Given the description of an element on the screen output the (x, y) to click on. 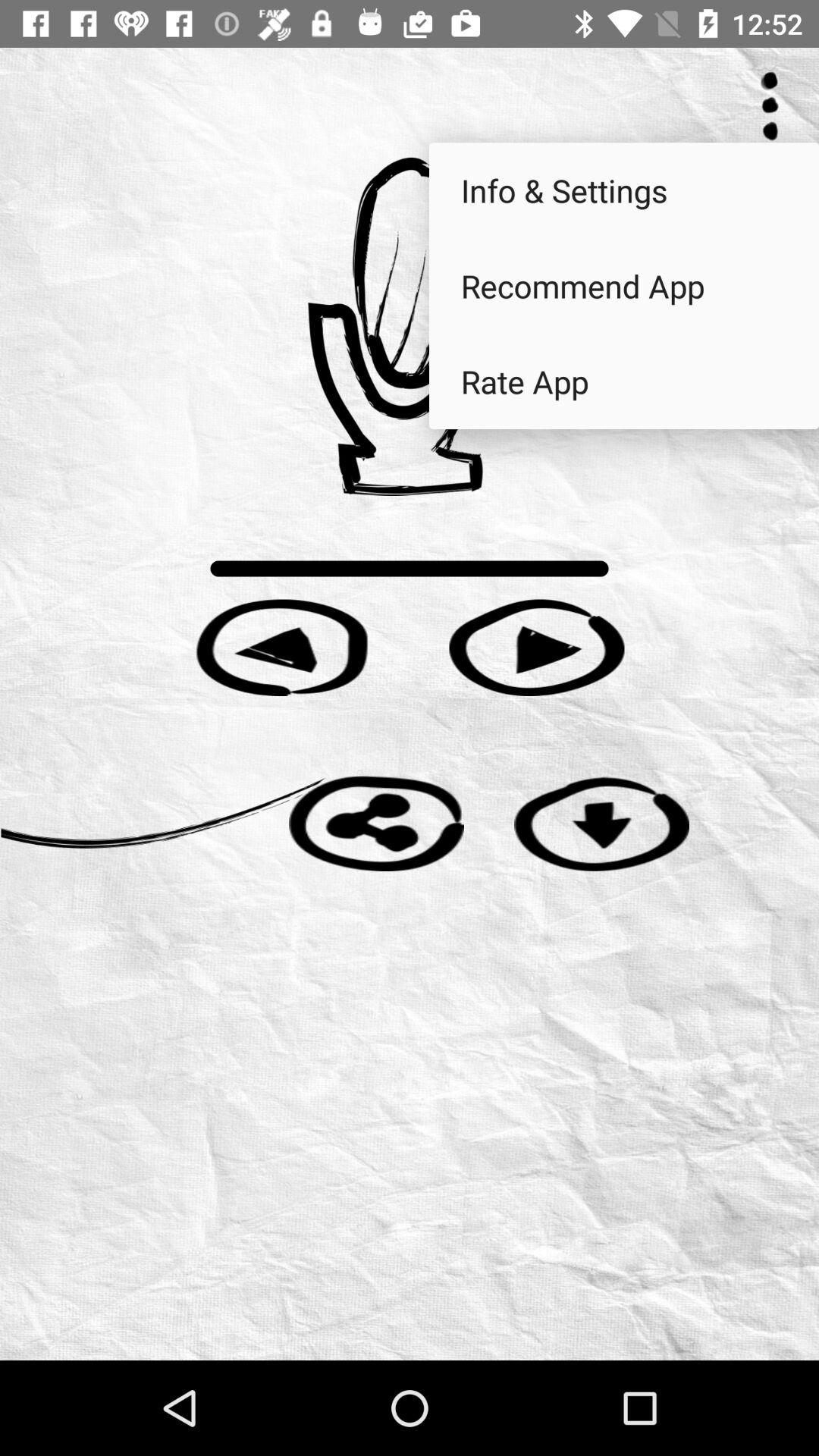
go back (281, 647)
